Given the description of an element on the screen output the (x, y) to click on. 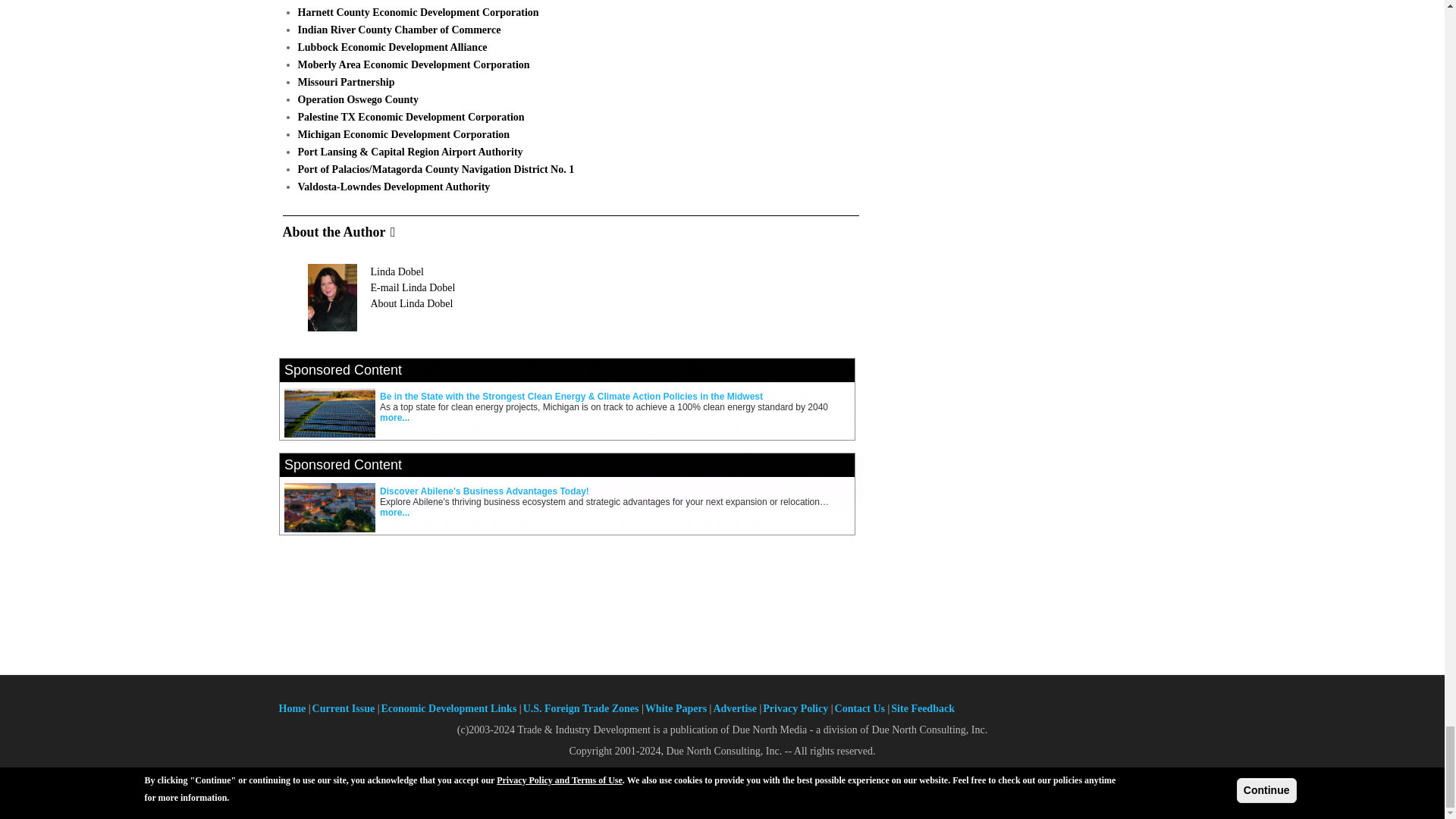
3rd party ad content (571, 526)
3rd party ad content (571, 431)
3rd party ad content (722, 617)
